Given the description of an element on the screen output the (x, y) to click on. 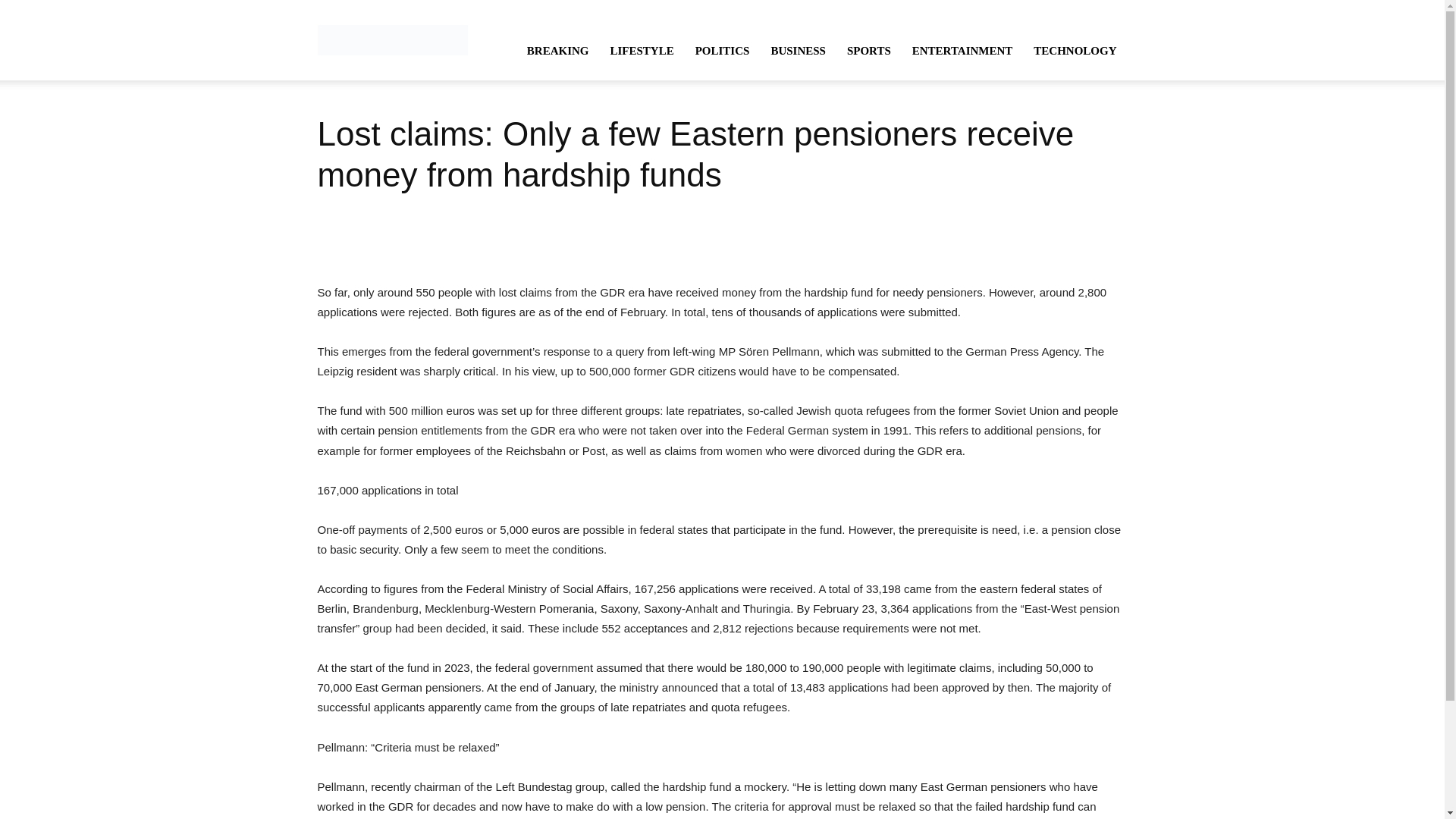
SPORTS (868, 50)
TECHNOLOGY (1074, 50)
POLITICS (722, 50)
LIFESTYLE (641, 50)
Indo Newyork (392, 39)
BREAKING (557, 50)
BUSINESS (797, 50)
ENTERTAINMENT (962, 50)
